Given the description of an element on the screen output the (x, y) to click on. 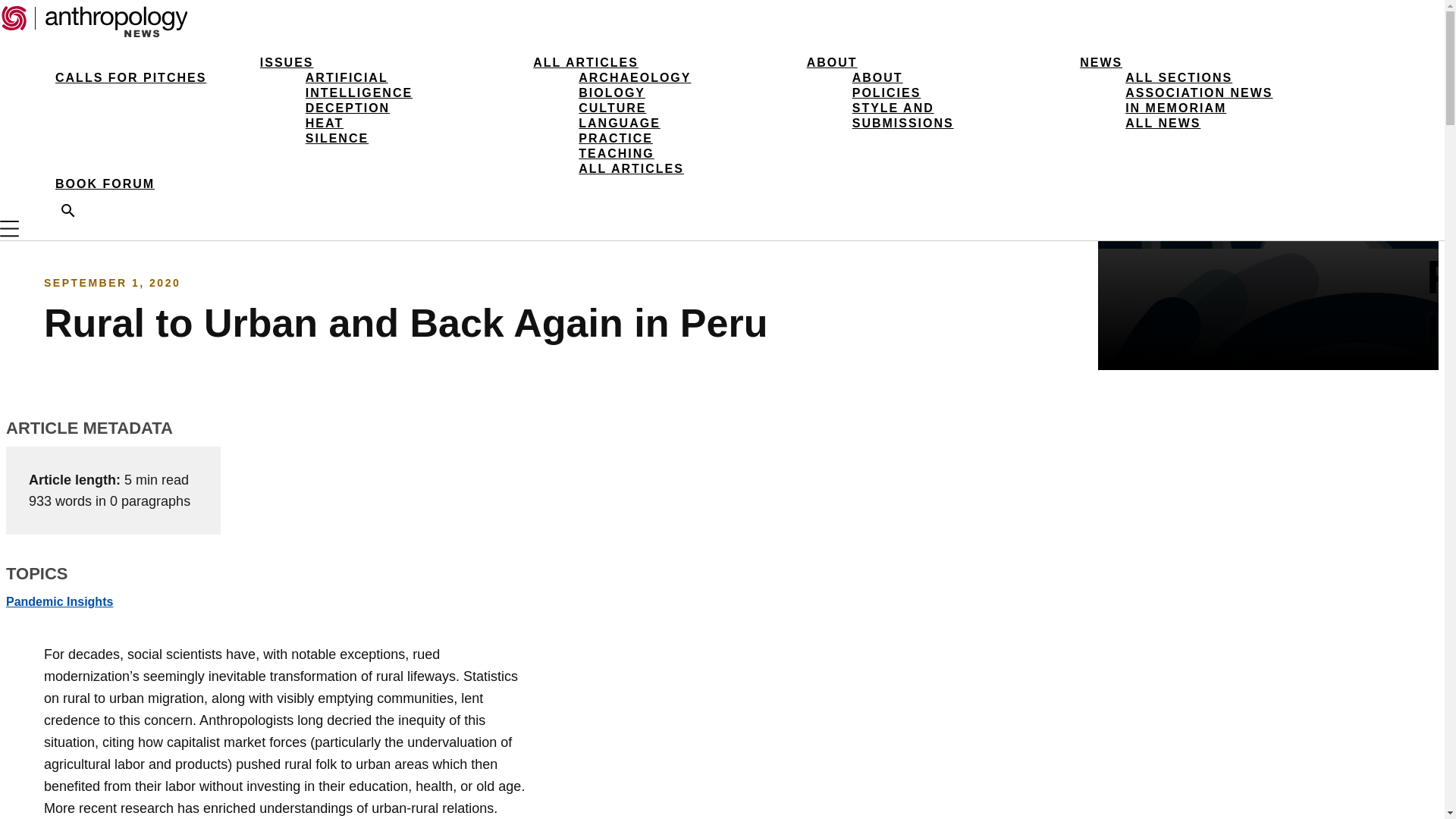
ARTIFICIAL INTELLIGENCE (358, 85)
ASSOCIATION NEWS (1198, 92)
ABOUT (876, 77)
POLICIES (886, 92)
LANGUAGE (619, 122)
TEACHING (615, 153)
HEAT (324, 122)
BIOLOGY (611, 92)
ISSUES (287, 62)
IN MEMORIAM (1175, 108)
CULTURE (612, 108)
STYLE AND SUBMISSIONS (902, 115)
SILENCE (336, 138)
PRACTICE (615, 138)
